Given the description of an element on the screen output the (x, y) to click on. 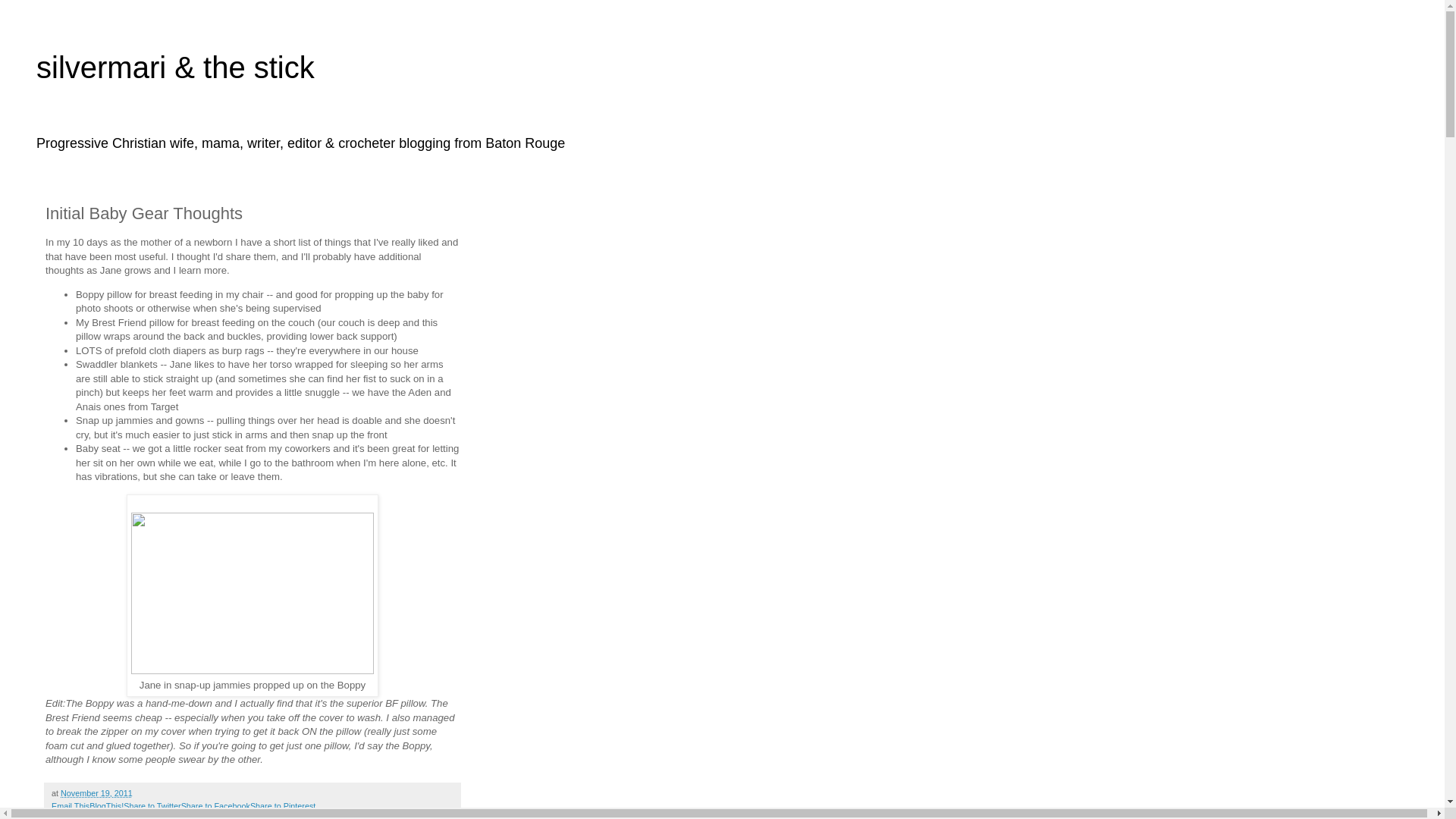
Email This (69, 805)
Email Post (141, 792)
November 19, 2011 (96, 792)
BlogThis! (105, 805)
Share to Facebook (215, 805)
Share to Pinterest (282, 805)
NaBloPoMo (123, 816)
Share to Twitter (151, 805)
permanent link (96, 792)
Share to Twitter (151, 805)
Email This (69, 805)
baby (88, 816)
Share to Facebook (215, 805)
BlogThis! (105, 805)
Share to Pinterest (282, 805)
